Given the description of an element on the screen output the (x, y) to click on. 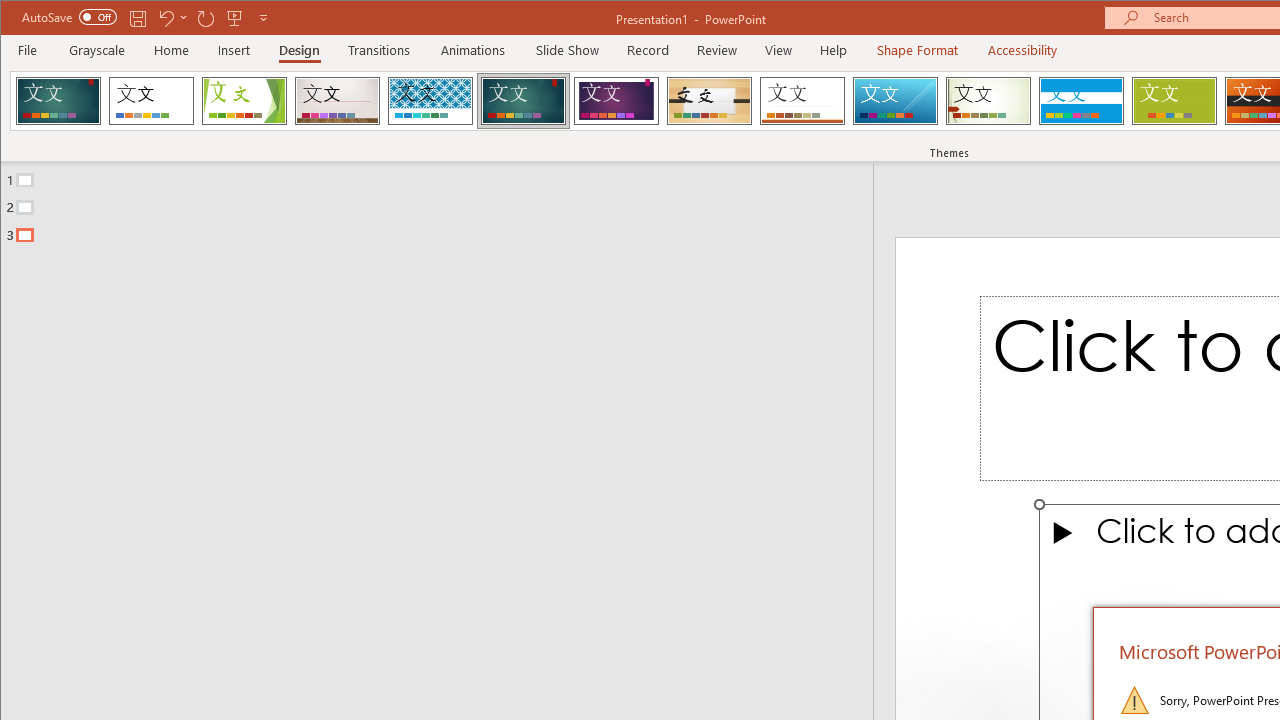
Warning Icon (1134, 699)
Gallery (337, 100)
Organic (709, 100)
Office Theme (151, 100)
Slice (895, 100)
Wisp (988, 100)
